Given the description of an element on the screen output the (x, y) to click on. 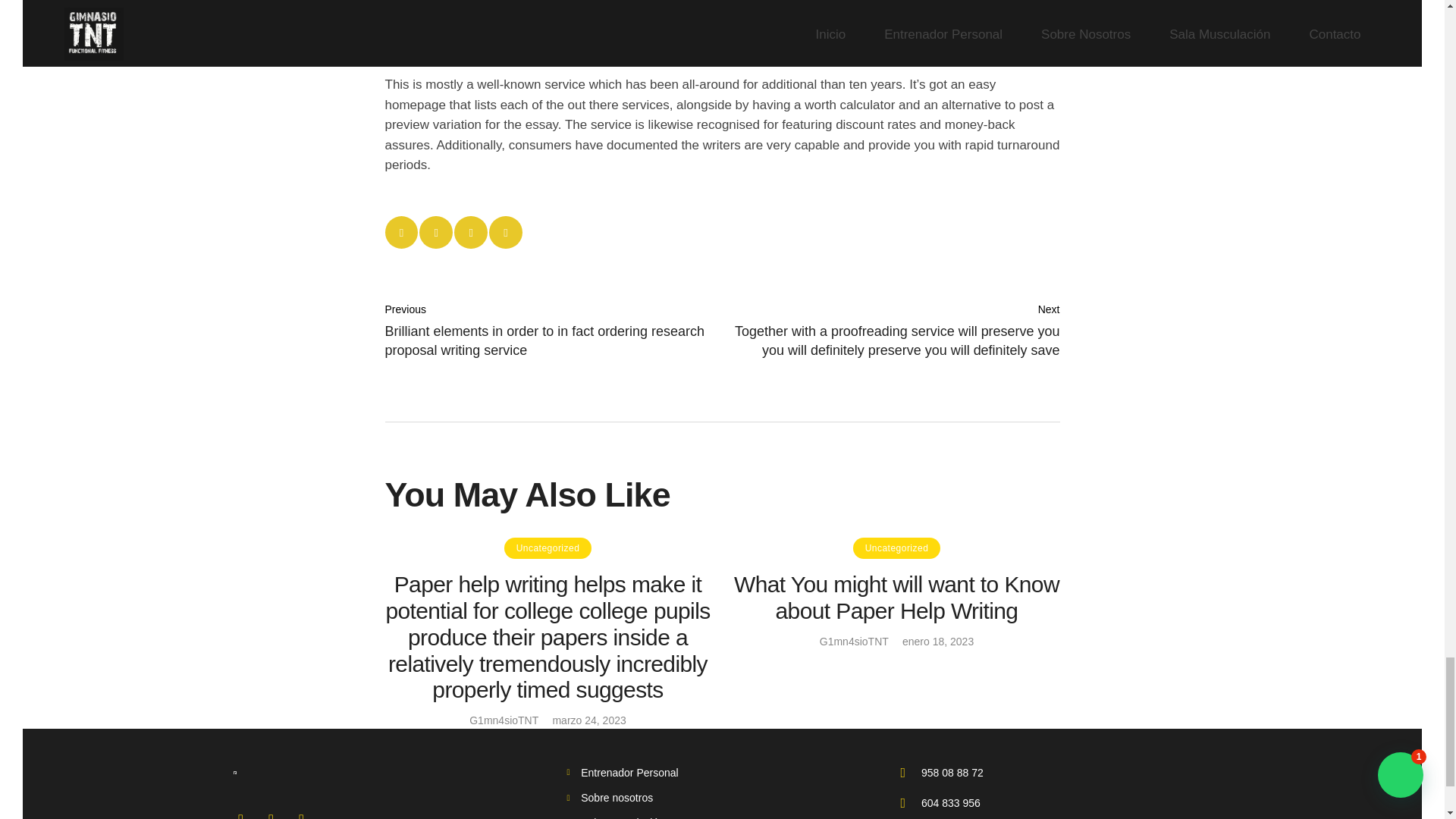
G1mn4sioTNT (503, 720)
Uncategorized (547, 547)
Uncategorized (896, 547)
What You might will want to Know about Paper Help Writing (896, 597)
G1mn4sioTNT (853, 641)
View all posts in Uncategorized (896, 547)
View all posts in Uncategorized (547, 547)
